Given the description of an element on the screen output the (x, y) to click on. 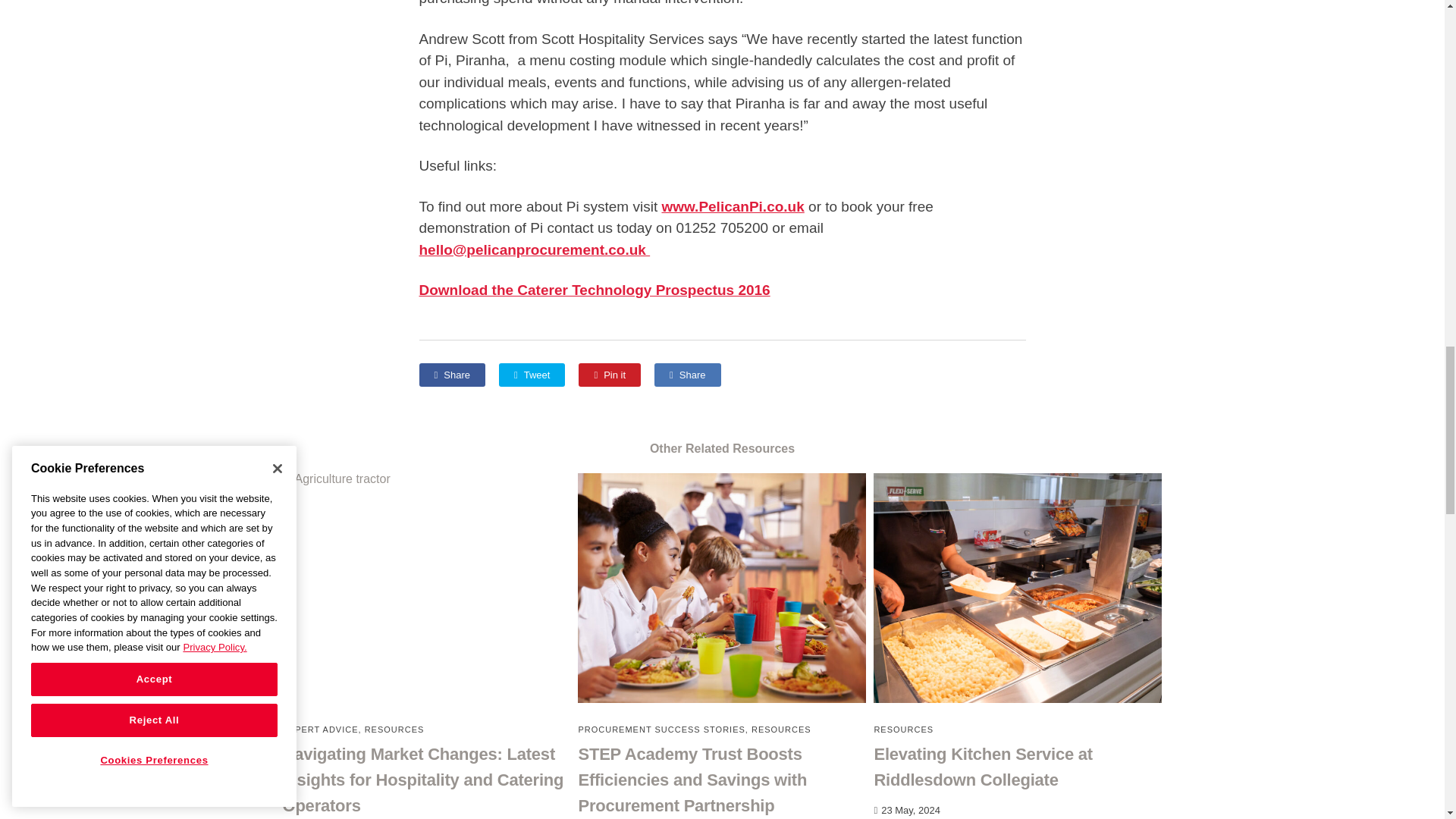
Share (451, 373)
Tweet (531, 373)
Download the Caterer Technology Prospectus 2016 (594, 289)
Share (686, 373)
Pin it (609, 373)
www.PelicanPi.co.uk (732, 206)
